Given the description of an element on the screen output the (x, y) to click on. 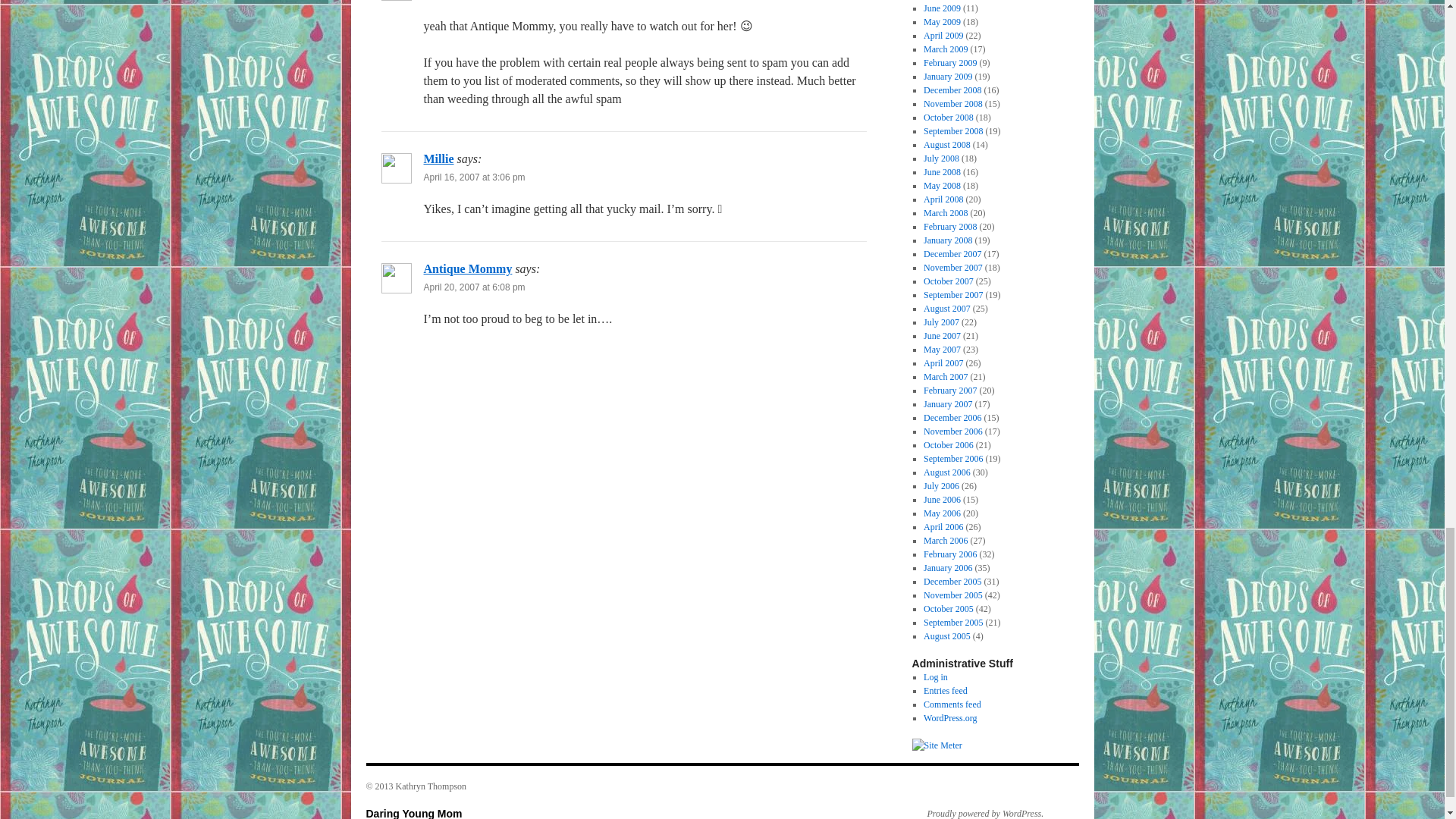
April 16, 2007 at 3:06 pm (473, 176)
Millie (437, 158)
April 20, 2007 at 6:08 pm (473, 286)
Antique Mommy (467, 268)
